Given the description of an element on the screen output the (x, y) to click on. 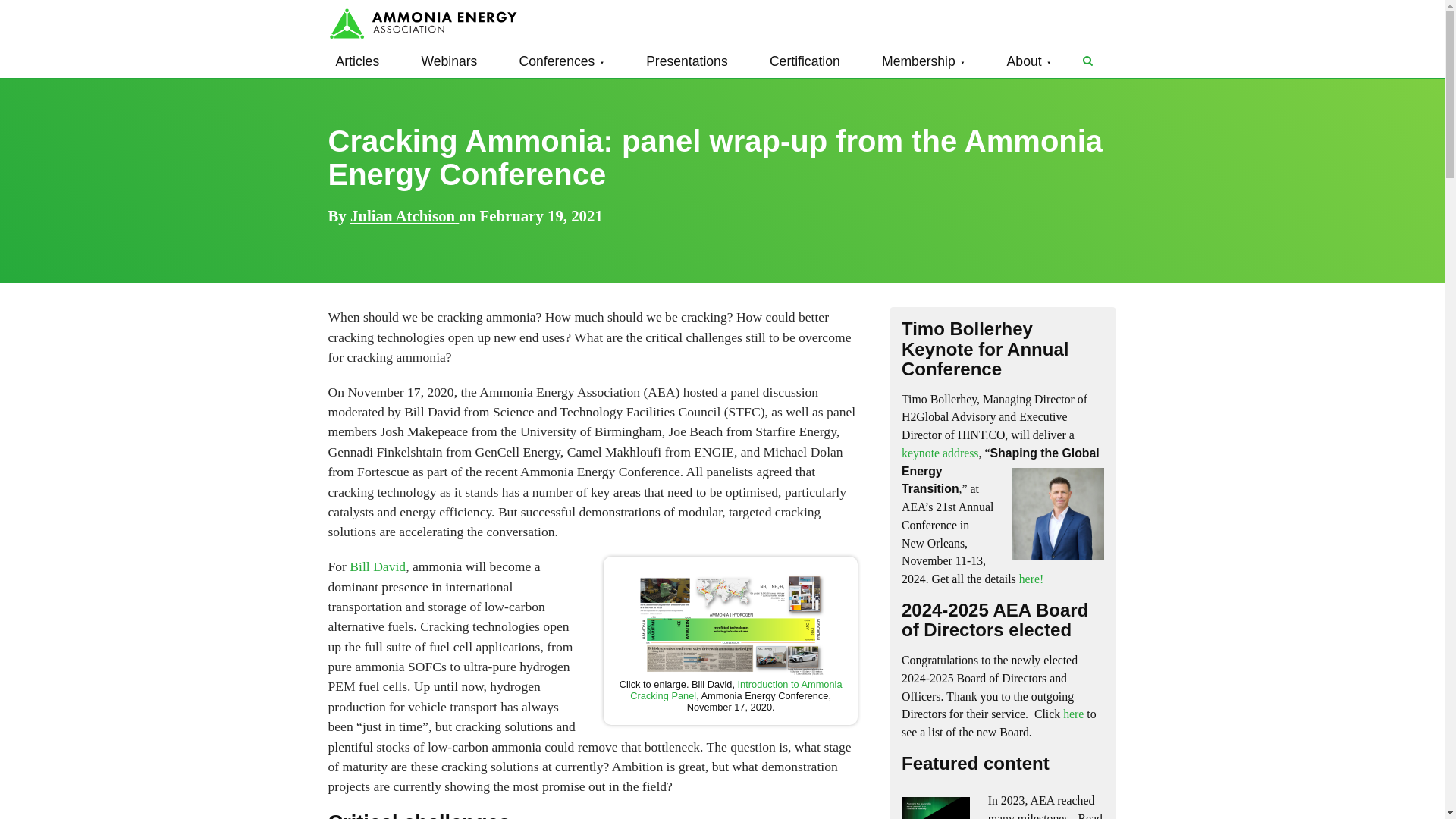
Articles (357, 60)
Certification (804, 60)
Conferences (561, 60)
Webinars (448, 60)
About (1028, 60)
Julian Atchison (404, 215)
Search (1088, 61)
Bill David (377, 566)
Presentations (687, 60)
Introduction to Ammonia Cracking Panel (735, 689)
Membership (923, 60)
